Given the description of an element on the screen output the (x, y) to click on. 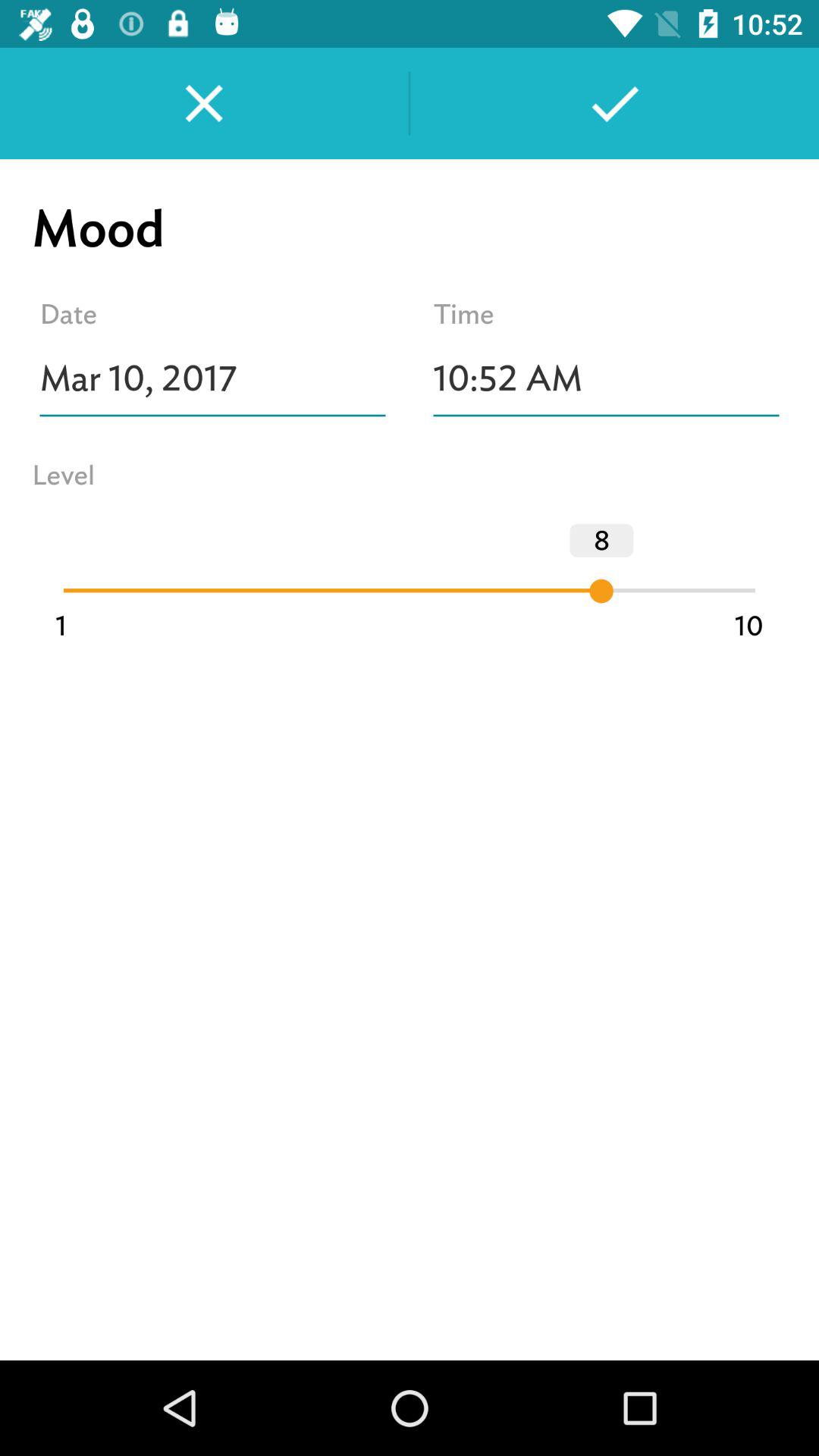
flip to the mar 10, 2017 icon (212, 378)
